Given the description of an element on the screen output the (x, y) to click on. 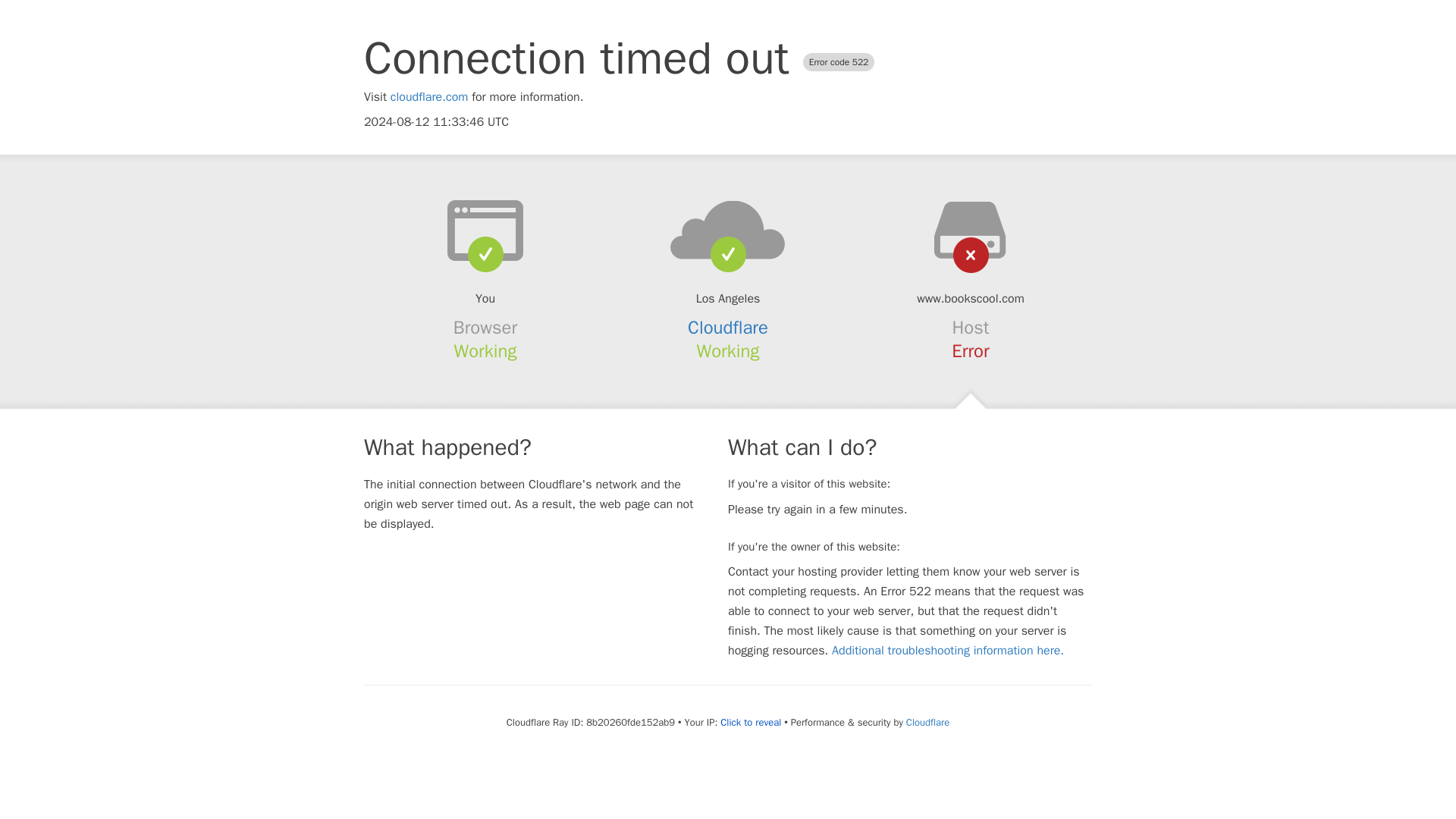
cloudflare.com (429, 96)
Additional troubleshooting information here. (947, 650)
Cloudflare (727, 327)
Cloudflare (927, 721)
Click to reveal (750, 722)
